Given the description of an element on the screen output the (x, y) to click on. 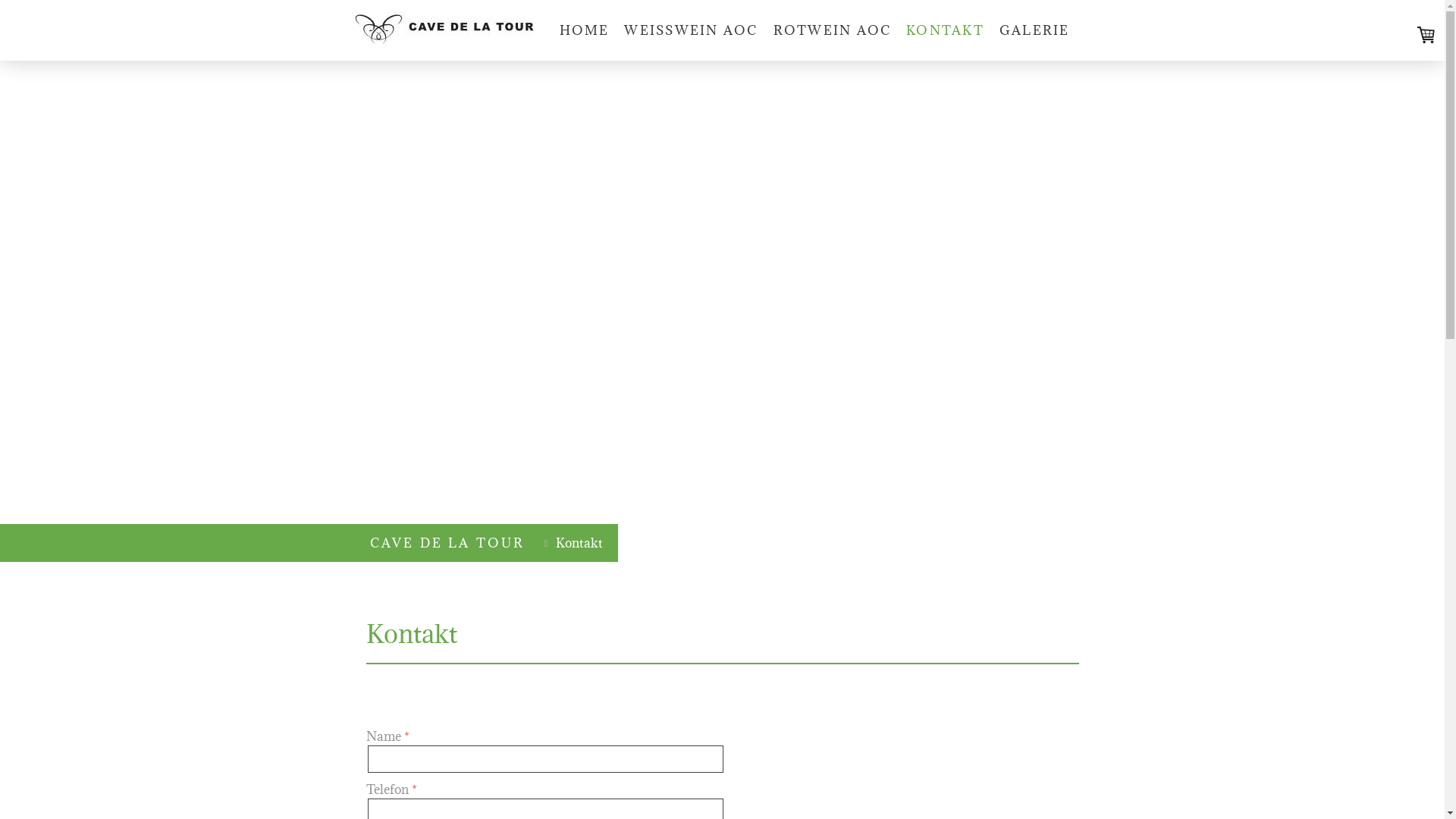
GALERIE Element type: text (1034, 30)
Kontakt Element type: text (574, 542)
ROTWEIN AOC Element type: text (832, 30)
HOME Element type: text (584, 30)
CAVE DE LA TOUR Element type: text (447, 542)
WEISSWEIN AOC Element type: text (690, 30)
KONTAKT Element type: text (944, 30)
